Given the description of an element on the screen output the (x, y) to click on. 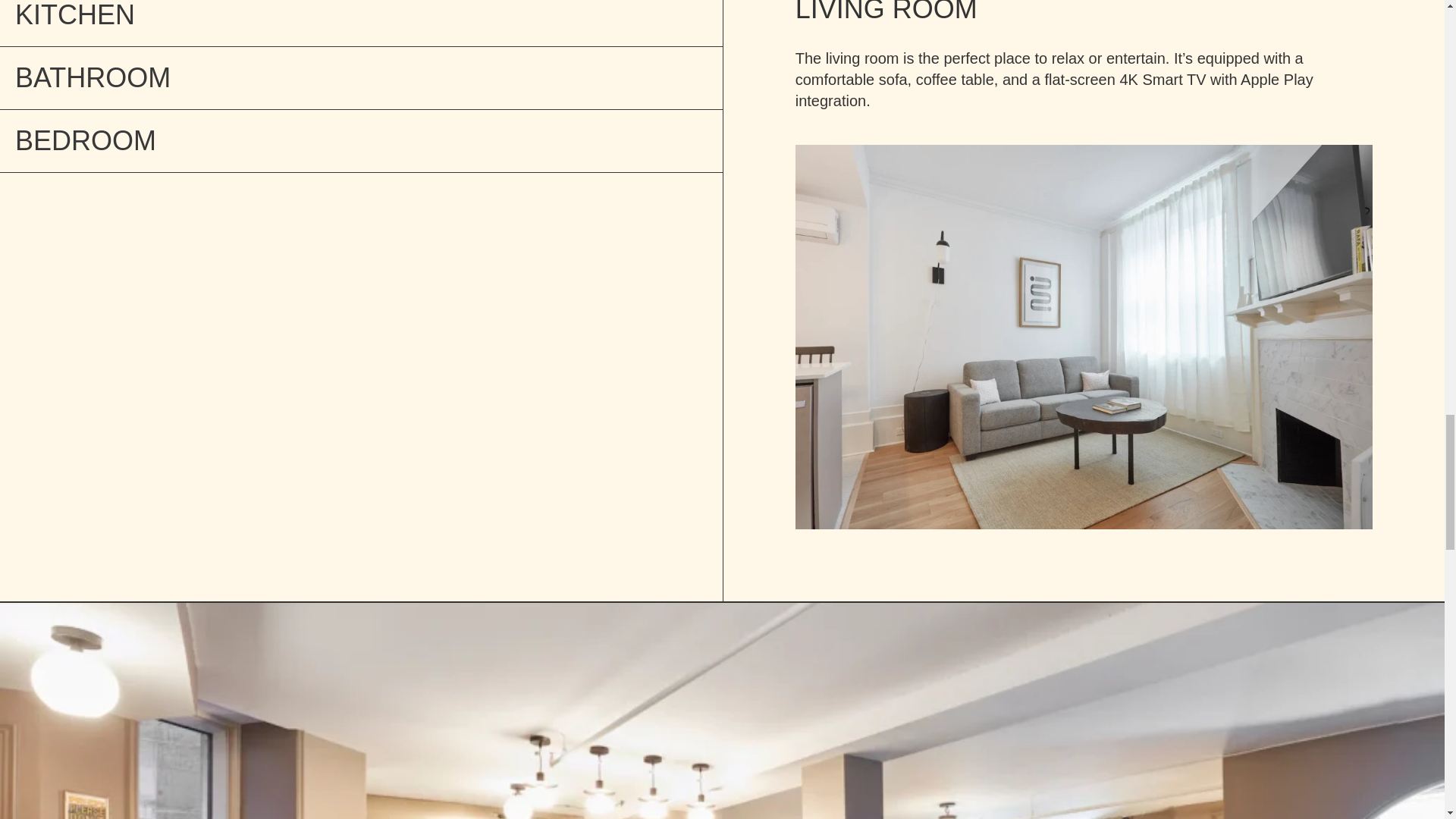
KITCHEN (361, 23)
BEDROOM (361, 140)
BATHROOM (361, 77)
